Given the description of an element on the screen output the (x, y) to click on. 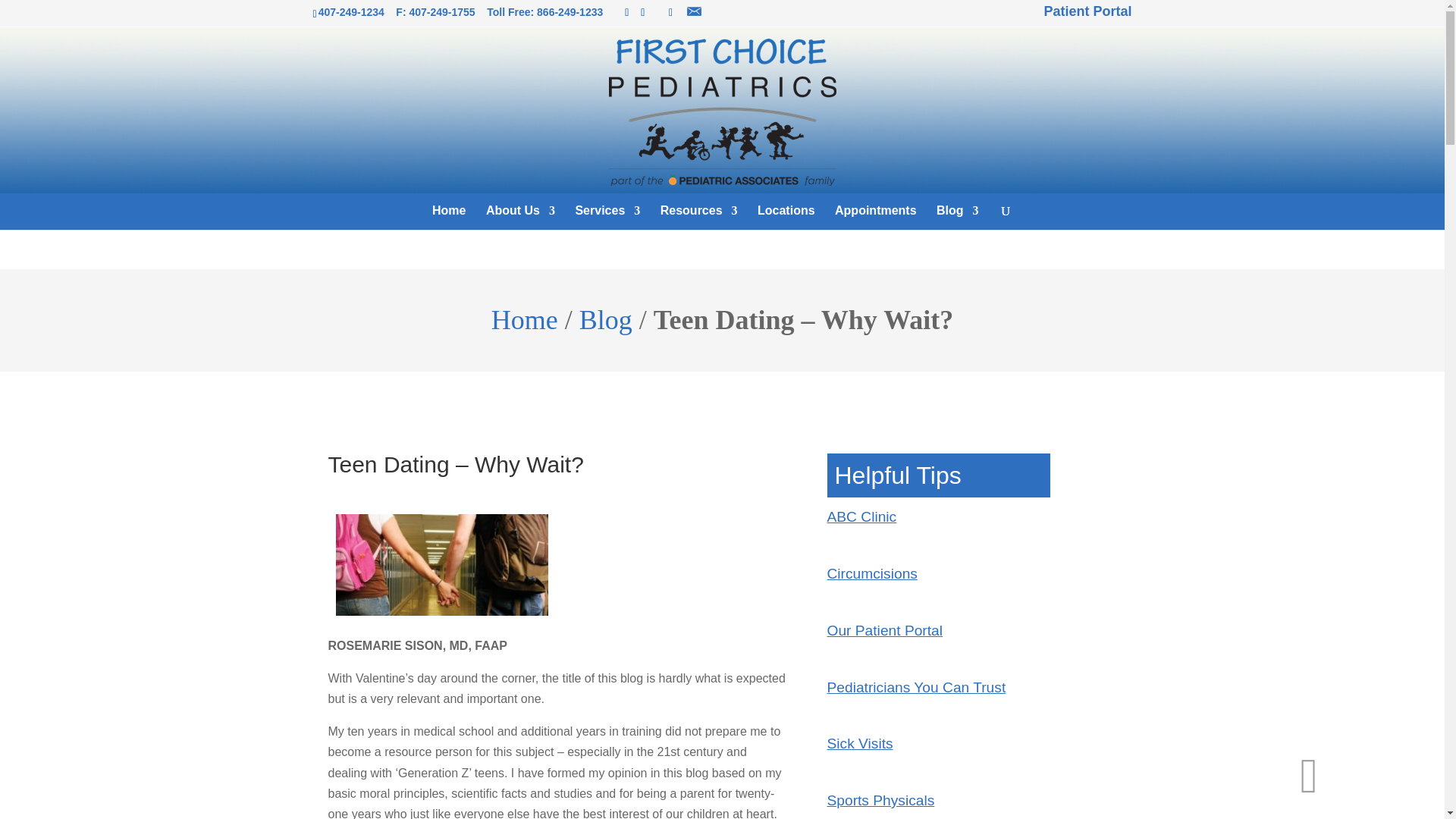
Blog (957, 216)
Home (448, 216)
Resources (699, 216)
Patient Portal (1085, 11)
407-249-1234    F: 407-249-1755    Toll Free: 866-249-1233 (462, 11)
Locations (786, 216)
Services (607, 216)
Appointments (875, 216)
About Us (520, 216)
